Given the description of an element on the screen output the (x, y) to click on. 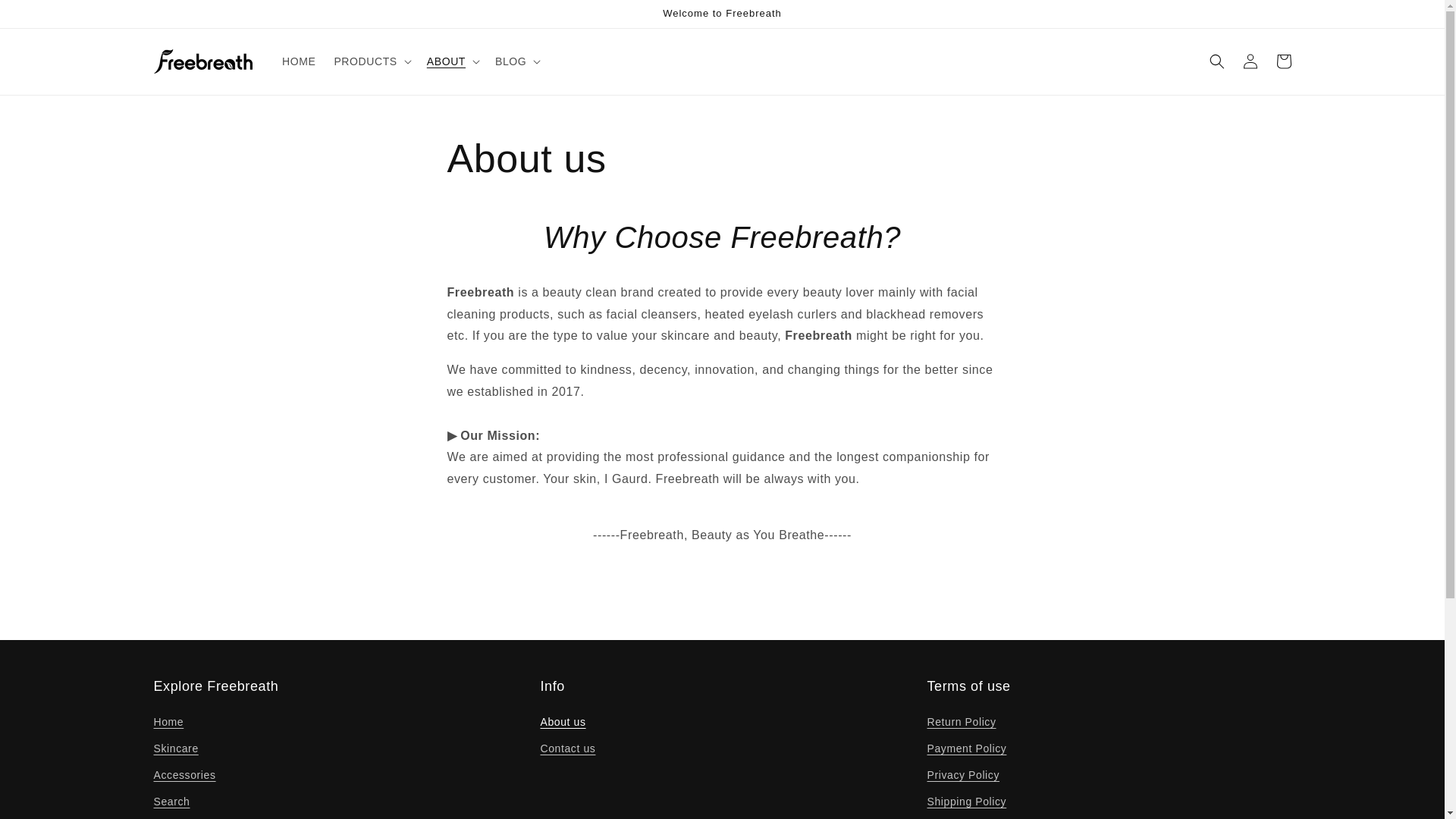
Home (167, 723)
Skip to content (45, 16)
Log in (1249, 61)
Cart (1283, 61)
Contact us (567, 748)
Accessories (183, 775)
HOME (298, 60)
Skincare (175, 748)
About us (562, 723)
Search (170, 801)
